Given the description of an element on the screen output the (x, y) to click on. 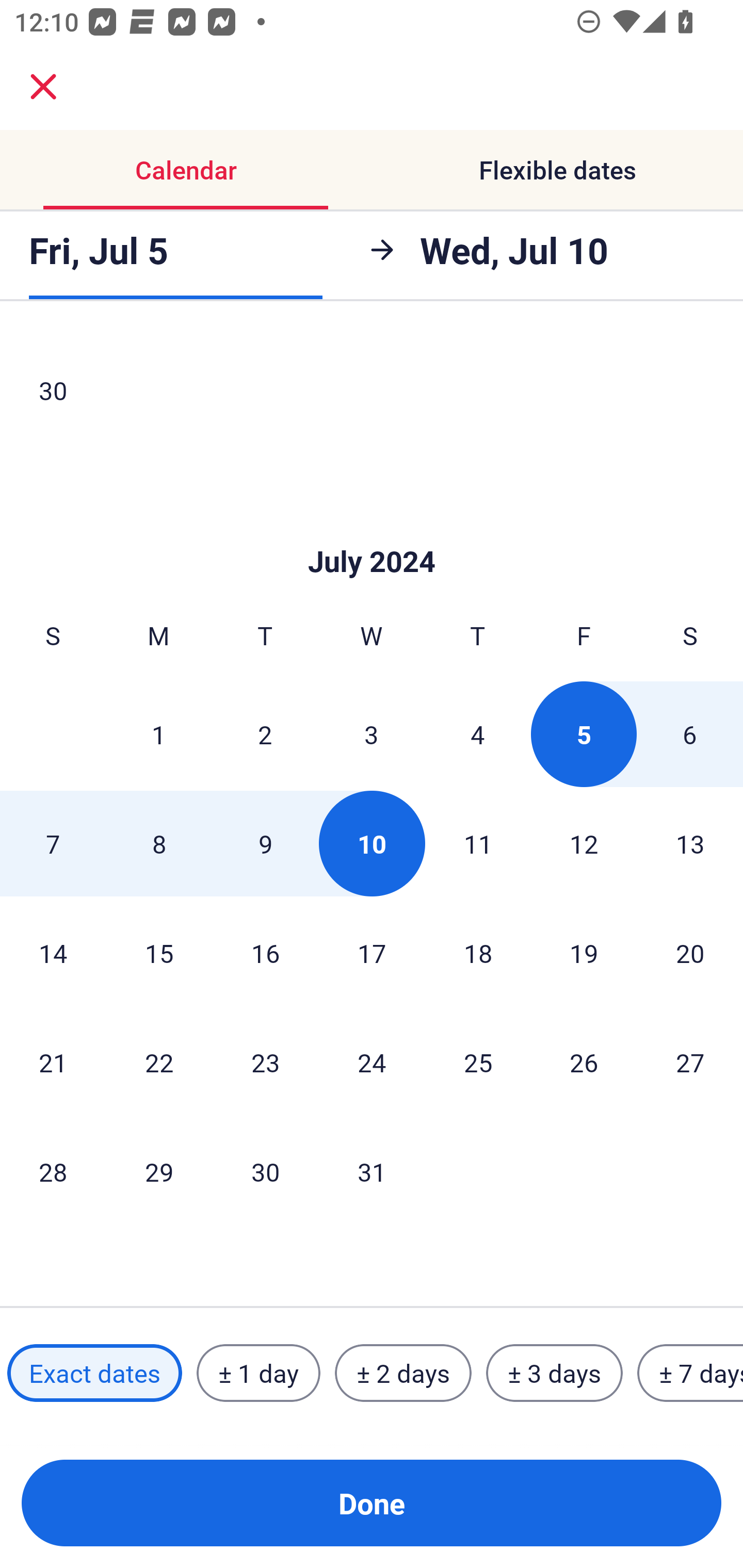
close. (43, 86)
Flexible dates (557, 170)
30 Sunday, June 30, 2024 (53, 390)
Skip to Done (371, 530)
1 Monday, July 1, 2024 (158, 734)
2 Tuesday, July 2, 2024 (264, 734)
3 Wednesday, July 3, 2024 (371, 734)
4 Thursday, July 4, 2024 (477, 734)
11 Thursday, July 11, 2024 (477, 843)
12 Friday, July 12, 2024 (584, 843)
13 Saturday, July 13, 2024 (690, 843)
14 Sunday, July 14, 2024 (53, 952)
15 Monday, July 15, 2024 (159, 952)
16 Tuesday, July 16, 2024 (265, 952)
17 Wednesday, July 17, 2024 (371, 952)
18 Thursday, July 18, 2024 (477, 952)
19 Friday, July 19, 2024 (584, 952)
20 Saturday, July 20, 2024 (690, 952)
21 Sunday, July 21, 2024 (53, 1061)
22 Monday, July 22, 2024 (159, 1061)
23 Tuesday, July 23, 2024 (265, 1061)
24 Wednesday, July 24, 2024 (371, 1061)
25 Thursday, July 25, 2024 (477, 1061)
26 Friday, July 26, 2024 (584, 1061)
27 Saturday, July 27, 2024 (690, 1061)
28 Sunday, July 28, 2024 (53, 1170)
29 Monday, July 29, 2024 (159, 1170)
30 Tuesday, July 30, 2024 (265, 1170)
31 Wednesday, July 31, 2024 (371, 1170)
Exact dates (94, 1372)
± 1 day (258, 1372)
± 2 days (403, 1372)
± 3 days (553, 1372)
± 7 days (690, 1372)
Done (371, 1502)
